Given the description of an element on the screen output the (x, y) to click on. 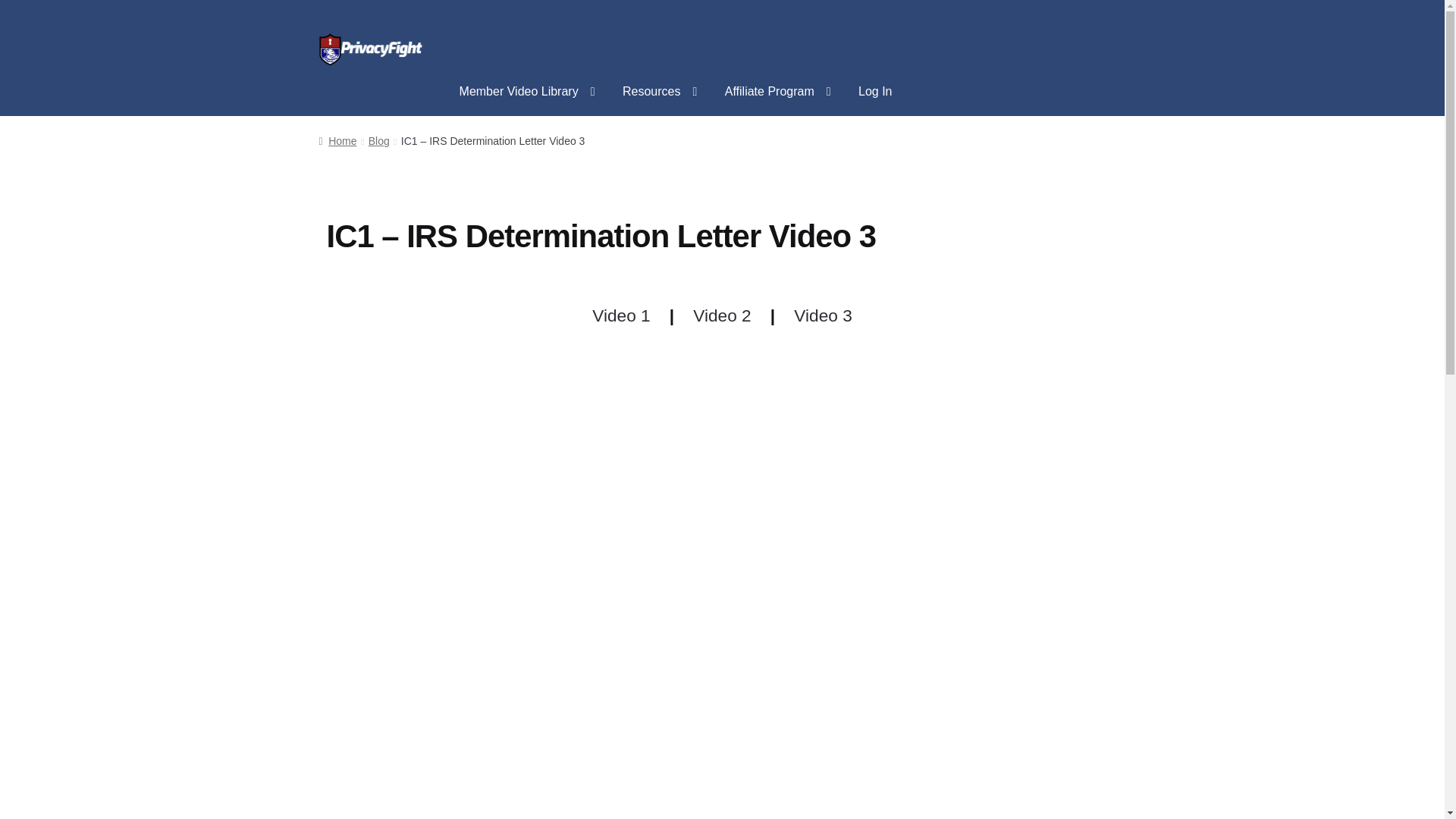
Affiliate Program (778, 91)
Resources (659, 91)
Member Video Library (526, 91)
Log In (874, 91)
